Given the description of an element on the screen output the (x, y) to click on. 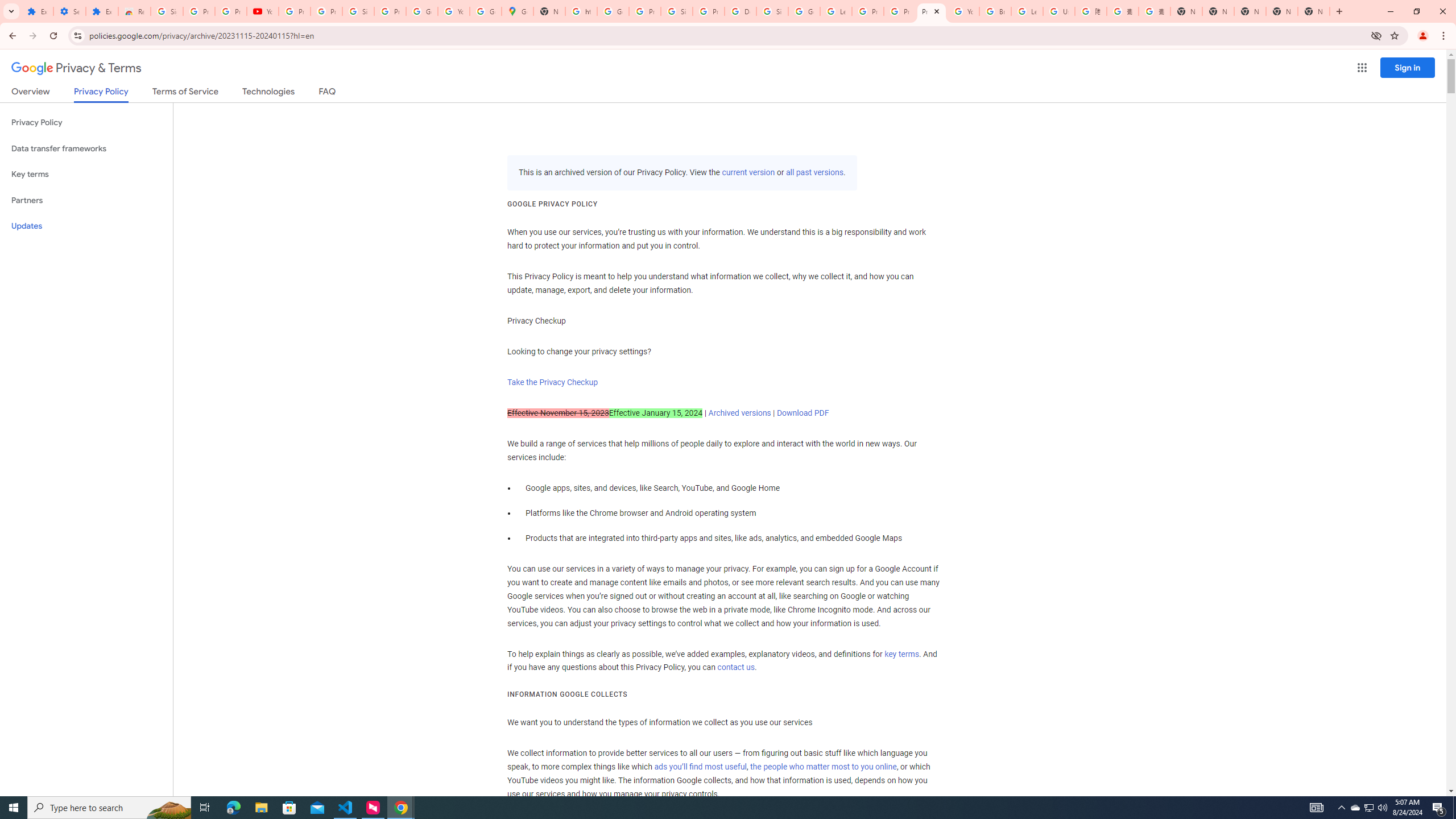
https://scholar.google.com/ (581, 11)
key terms (900, 653)
